Given the description of an element on the screen output the (x, y) to click on. 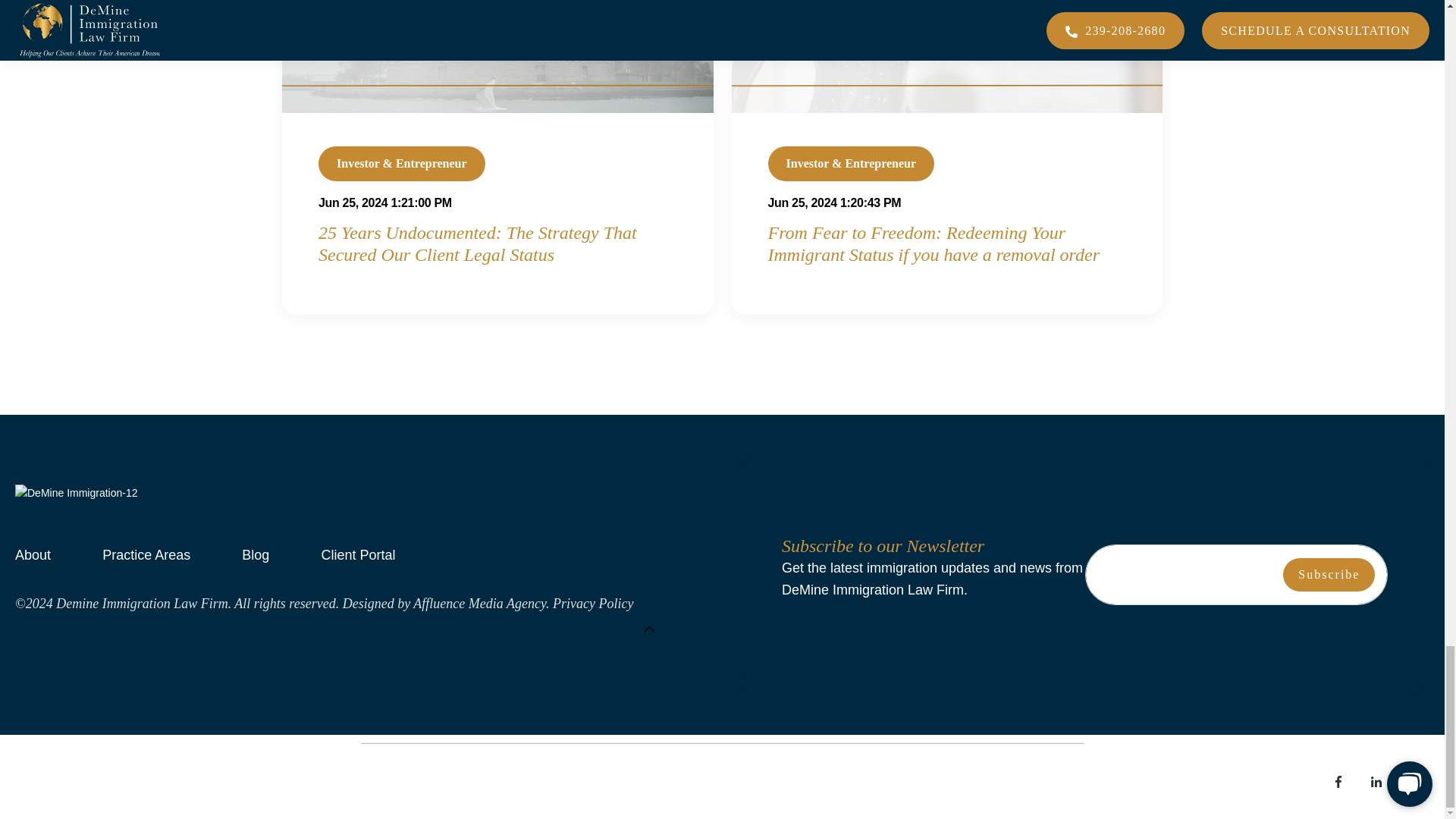
Affluence Media Agency (479, 603)
Privacy Policy (593, 603)
Subscribe (1328, 574)
Subscribe (1328, 574)
Blog (265, 554)
Practice Areas (156, 554)
About (42, 554)
Privacy Policy (189, 784)
Client Portal (367, 554)
Terms and Services (74, 784)
